Given the description of an element on the screen output the (x, y) to click on. 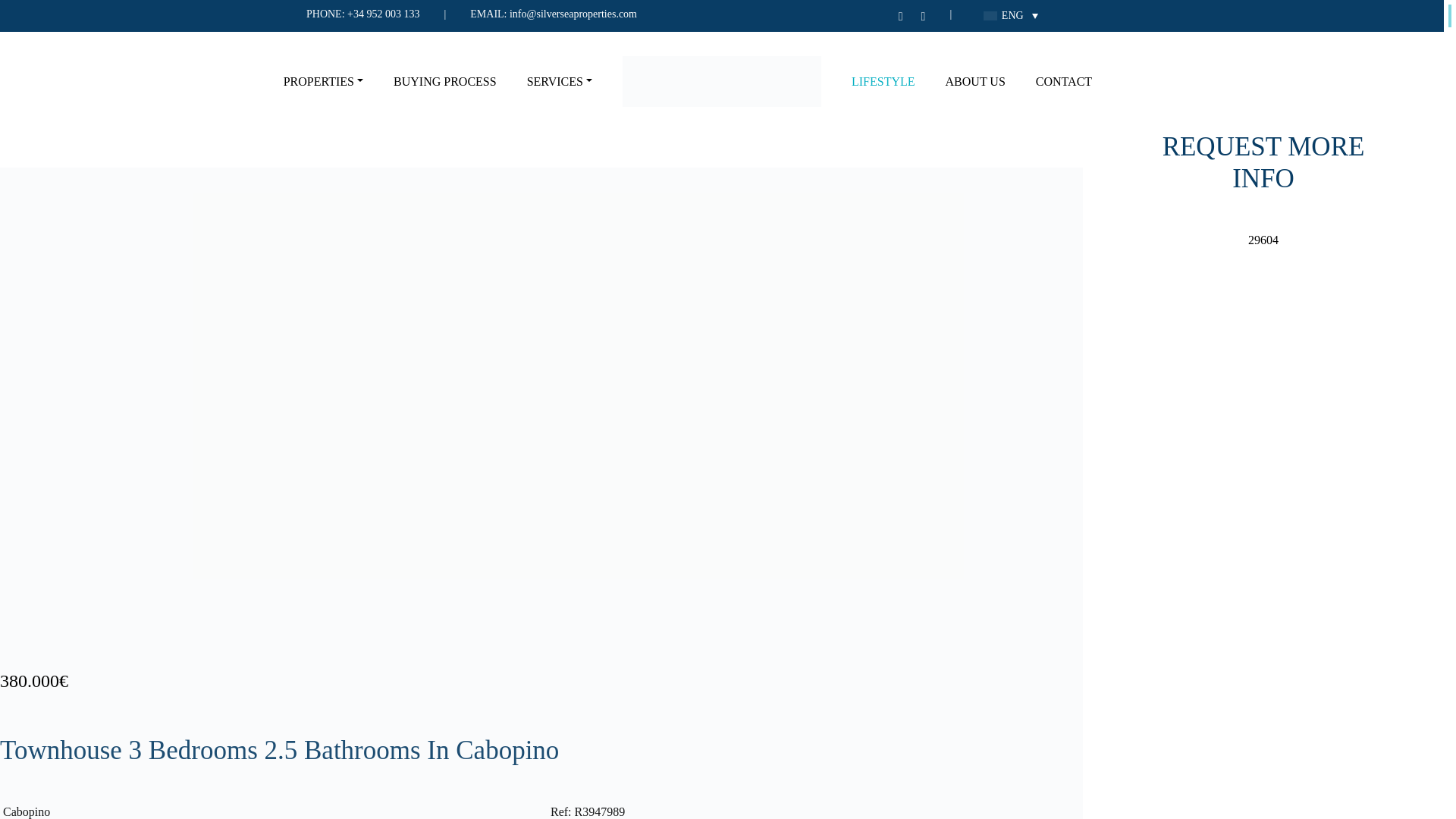
SERVICES (559, 81)
CONTACT (1063, 81)
BUYING PROCESS (444, 81)
ABOUT US (975, 81)
LIFESTYLE (883, 81)
ENG (1010, 15)
PROPERTIES (322, 81)
